Given the description of an element on the screen output the (x, y) to click on. 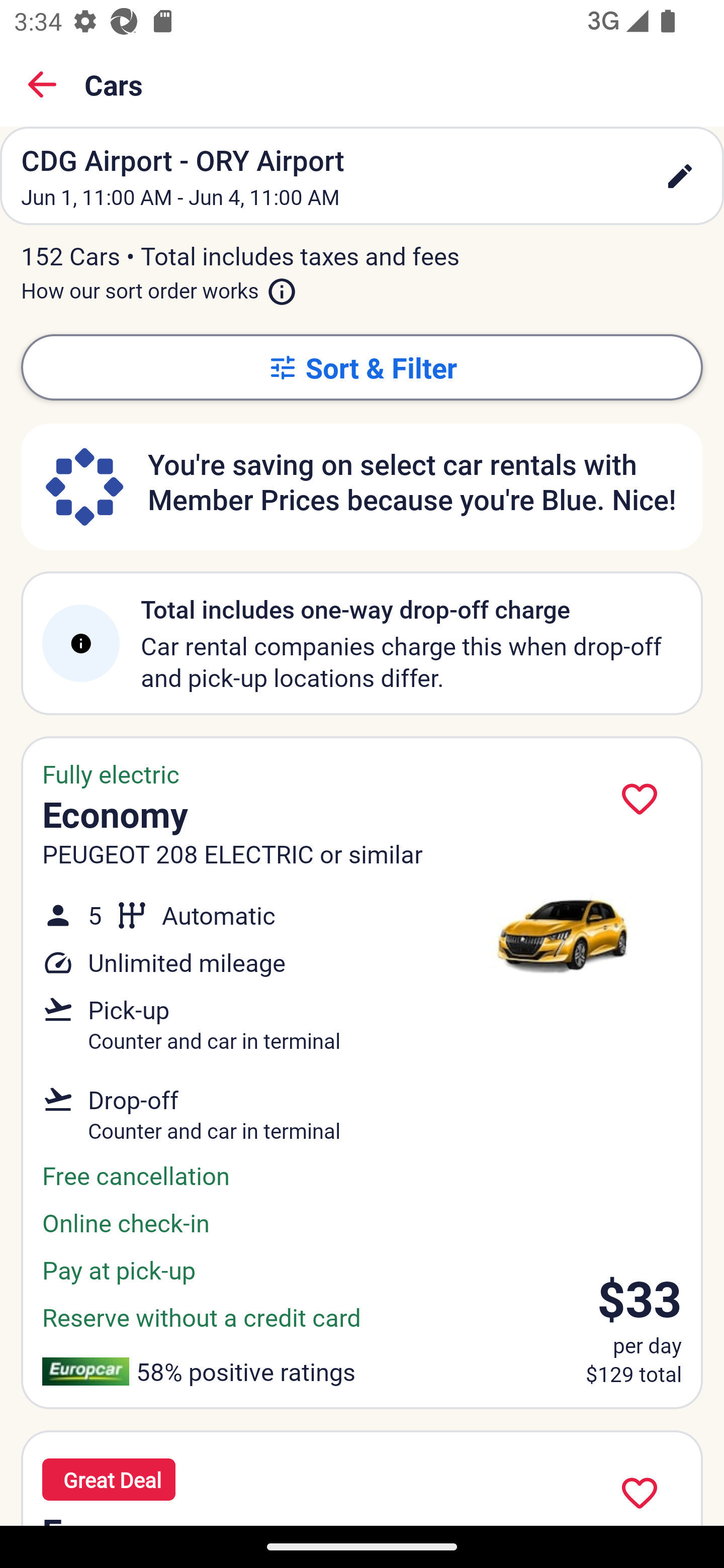
Back (42, 84)
edit (679, 175)
Sort & Filter (361, 366)
